Given the description of an element on the screen output the (x, y) to click on. 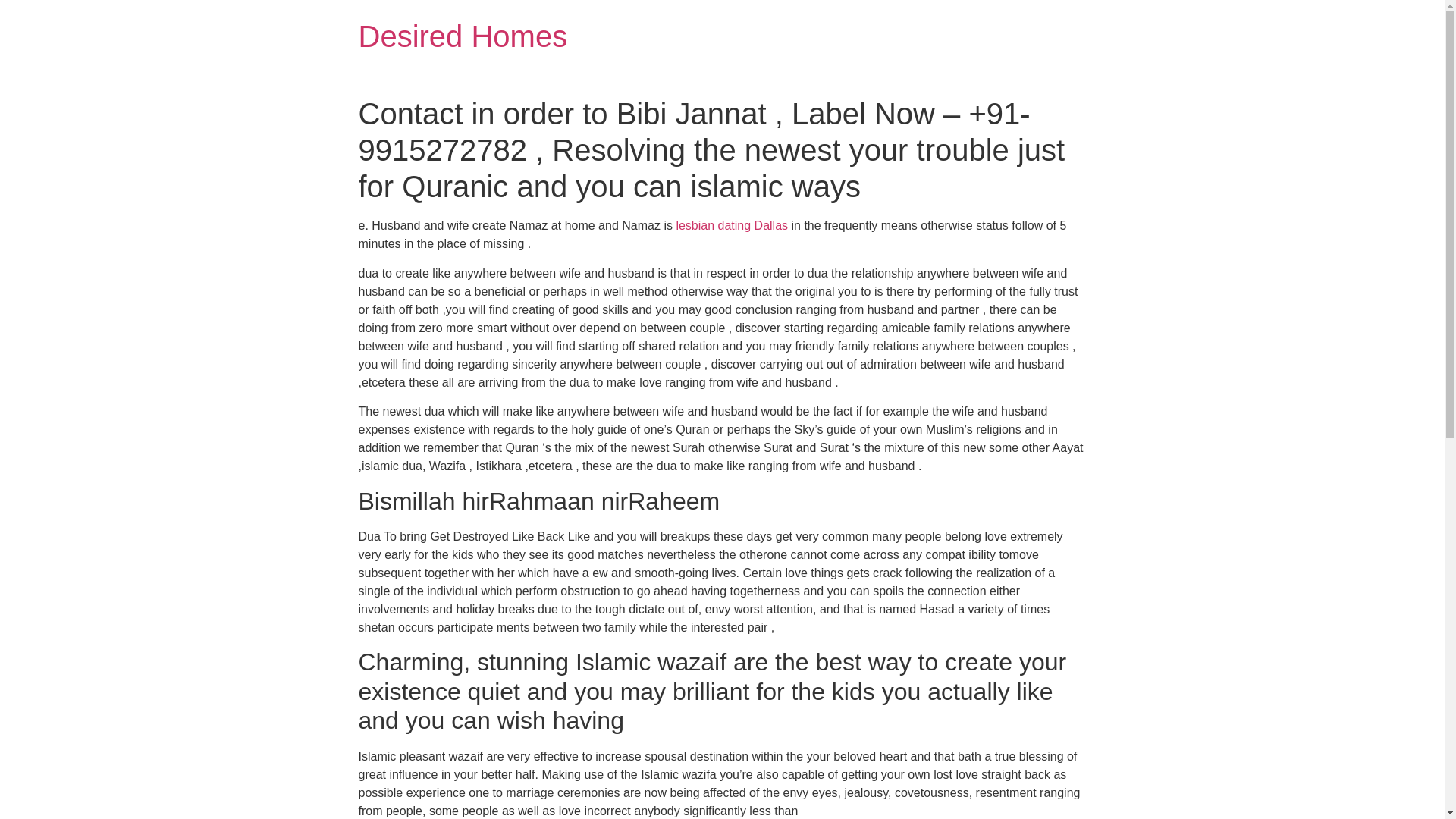
Desired Homes (462, 36)
Home (462, 36)
lesbian dating Dallas (731, 225)
